Given the description of an element on the screen output the (x, y) to click on. 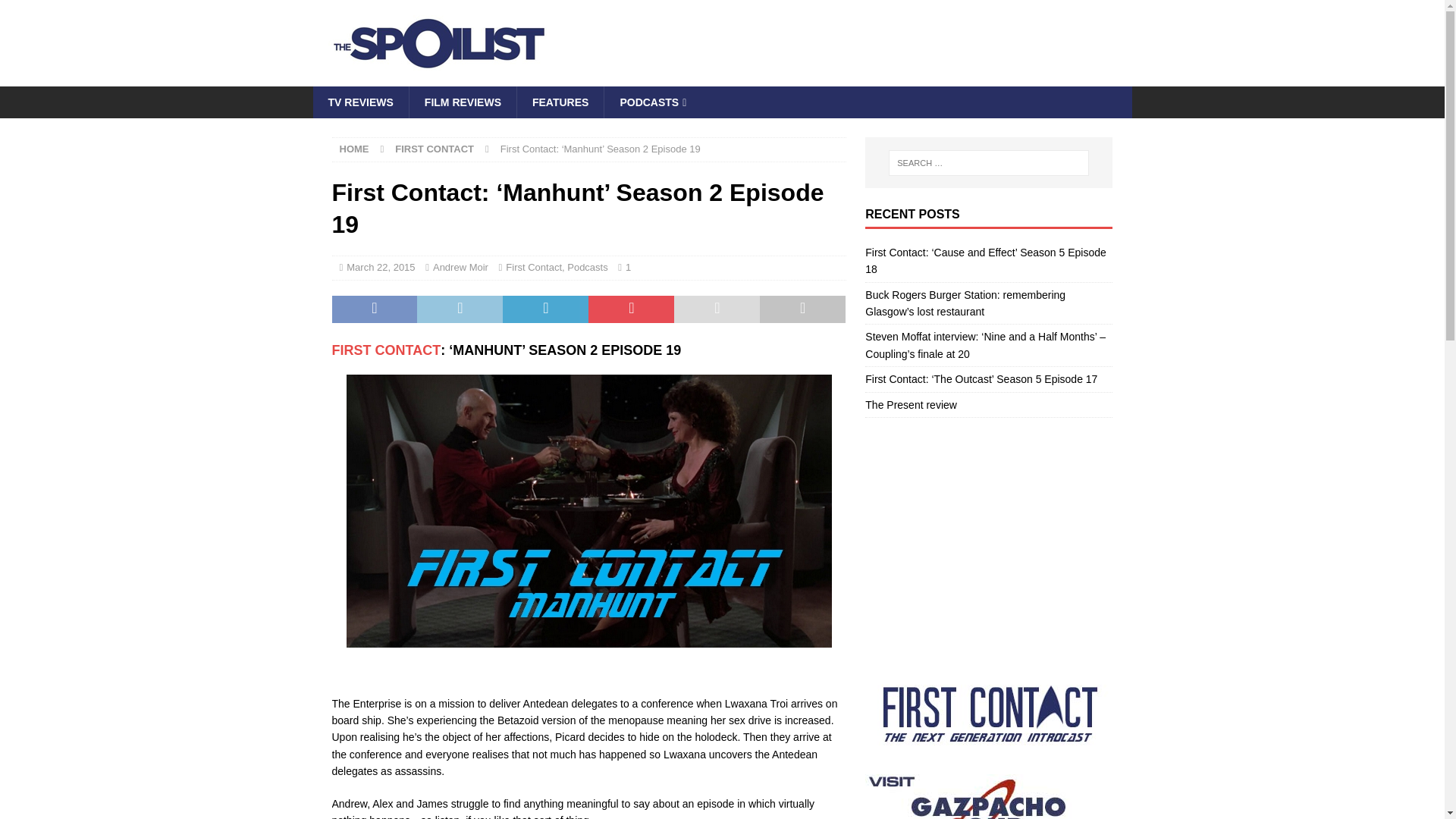
TV REVIEWS (360, 101)
HOME (354, 148)
Andrew Moir (459, 266)
FEATURES (560, 101)
PODCASTS (652, 101)
FIRST CONTACT (386, 350)
First Contact (386, 350)
Podcasts (587, 266)
FIRST CONTACT (434, 148)
March 22, 2015 (380, 266)
